Given the description of an element on the screen output the (x, y) to click on. 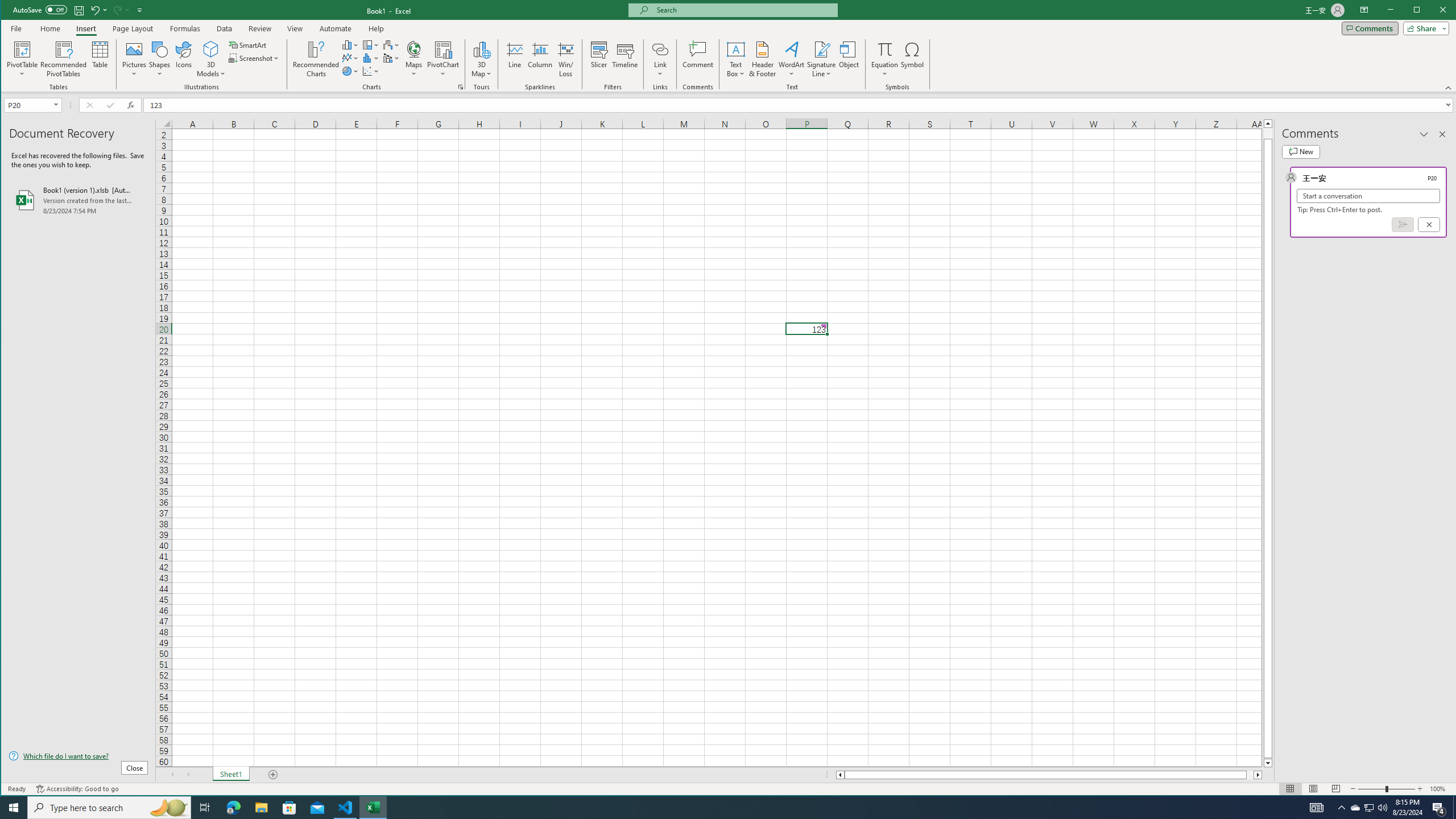
Column (540, 59)
Insert Column or Bar Chart (350, 44)
PivotChart (443, 48)
